Given the description of an element on the screen output the (x, y) to click on. 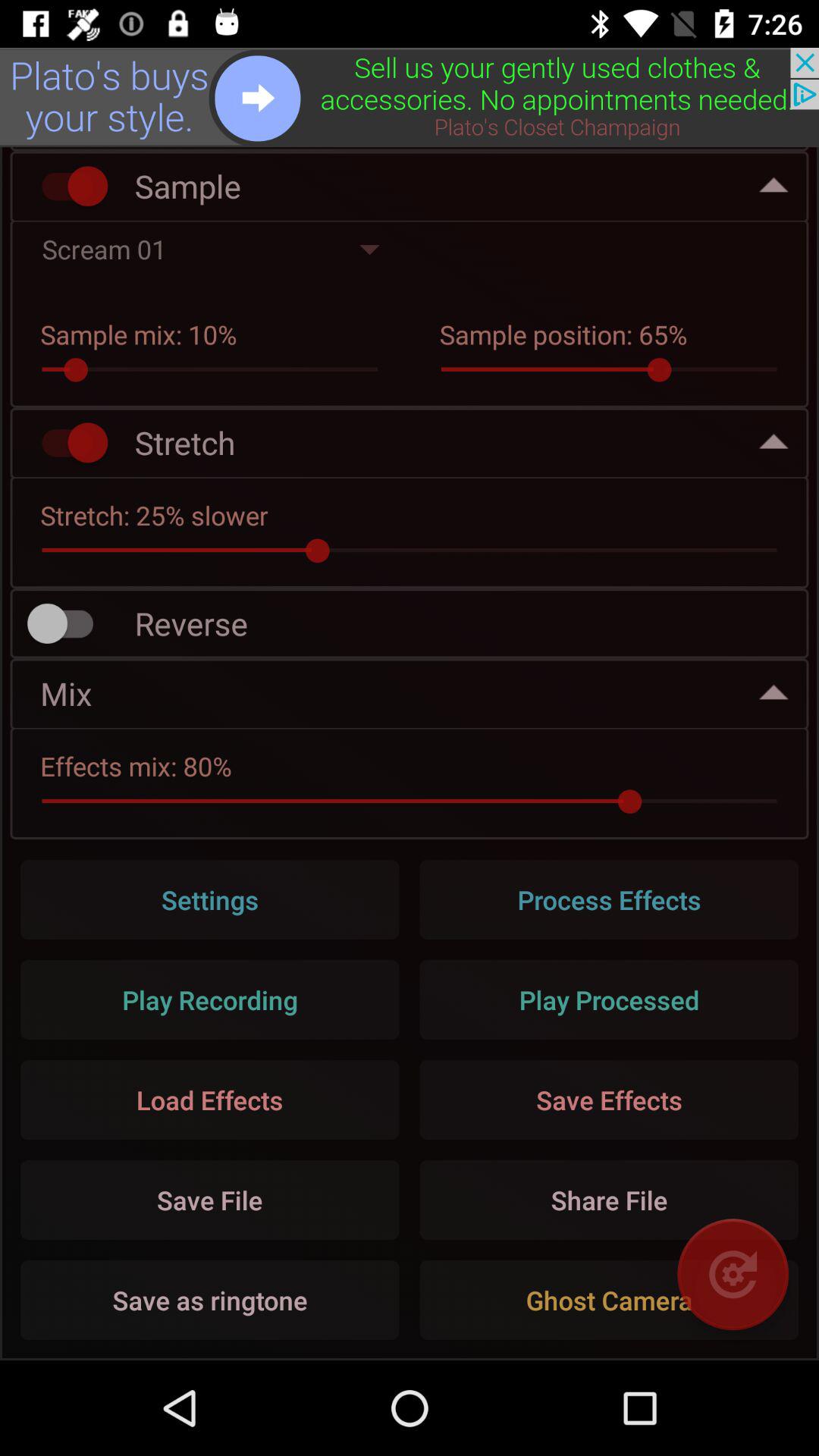
stretch audio sample (67, 442)
